Given the description of an element on the screen output the (x, y) to click on. 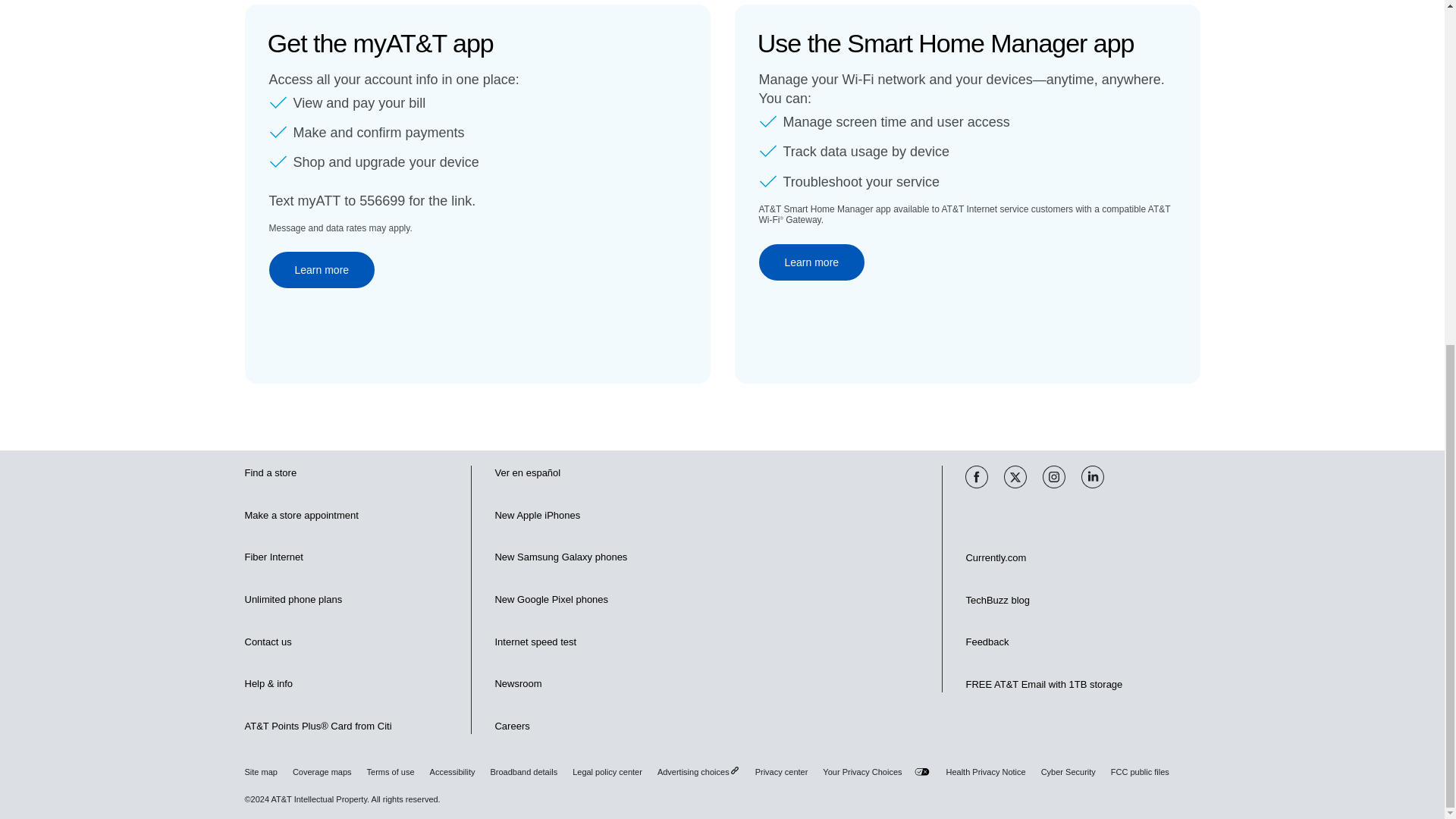
Find a store (270, 473)
Learn more (811, 262)
Learn more (320, 269)
